Given the description of an element on the screen output the (x, y) to click on. 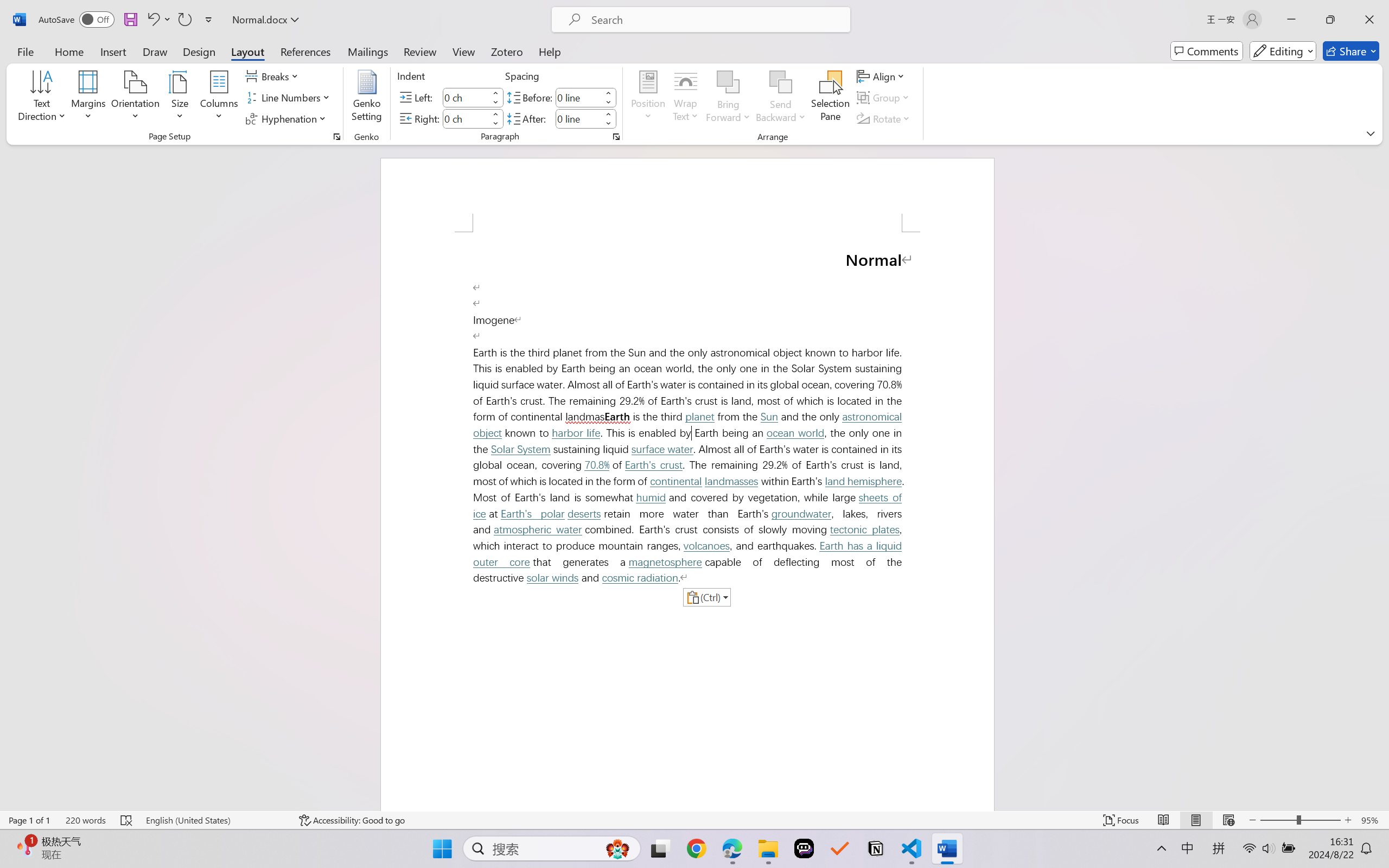
Rotate (884, 118)
Group (884, 97)
magnetosphere (665, 561)
groundwater (800, 513)
Bring Forward (728, 97)
volcanoes (706, 546)
astronomical object (690, 424)
Send Backward (781, 81)
Columns (219, 97)
